Given the description of an element on the screen output the (x, y) to click on. 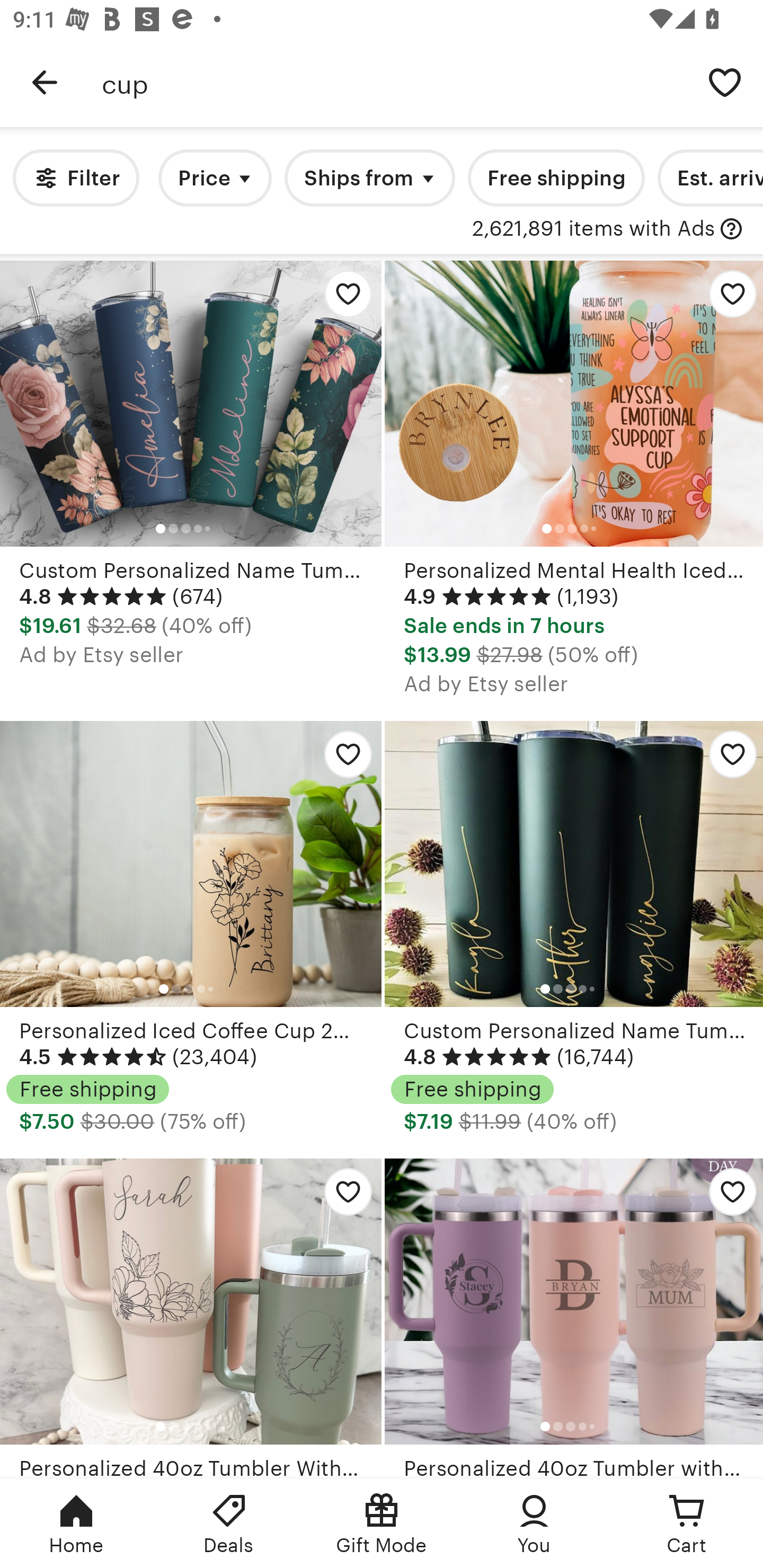
Navigate up (44, 82)
Save search (724, 81)
cup (393, 82)
Filter (75, 177)
Price (214, 177)
Ships from (369, 177)
Free shipping (555, 177)
2,621,891 items with Ads (593, 228)
with Ads (730, 228)
Deals (228, 1523)
Gift Mode (381, 1523)
You (533, 1523)
Cart (686, 1523)
